Given the description of an element on the screen output the (x, y) to click on. 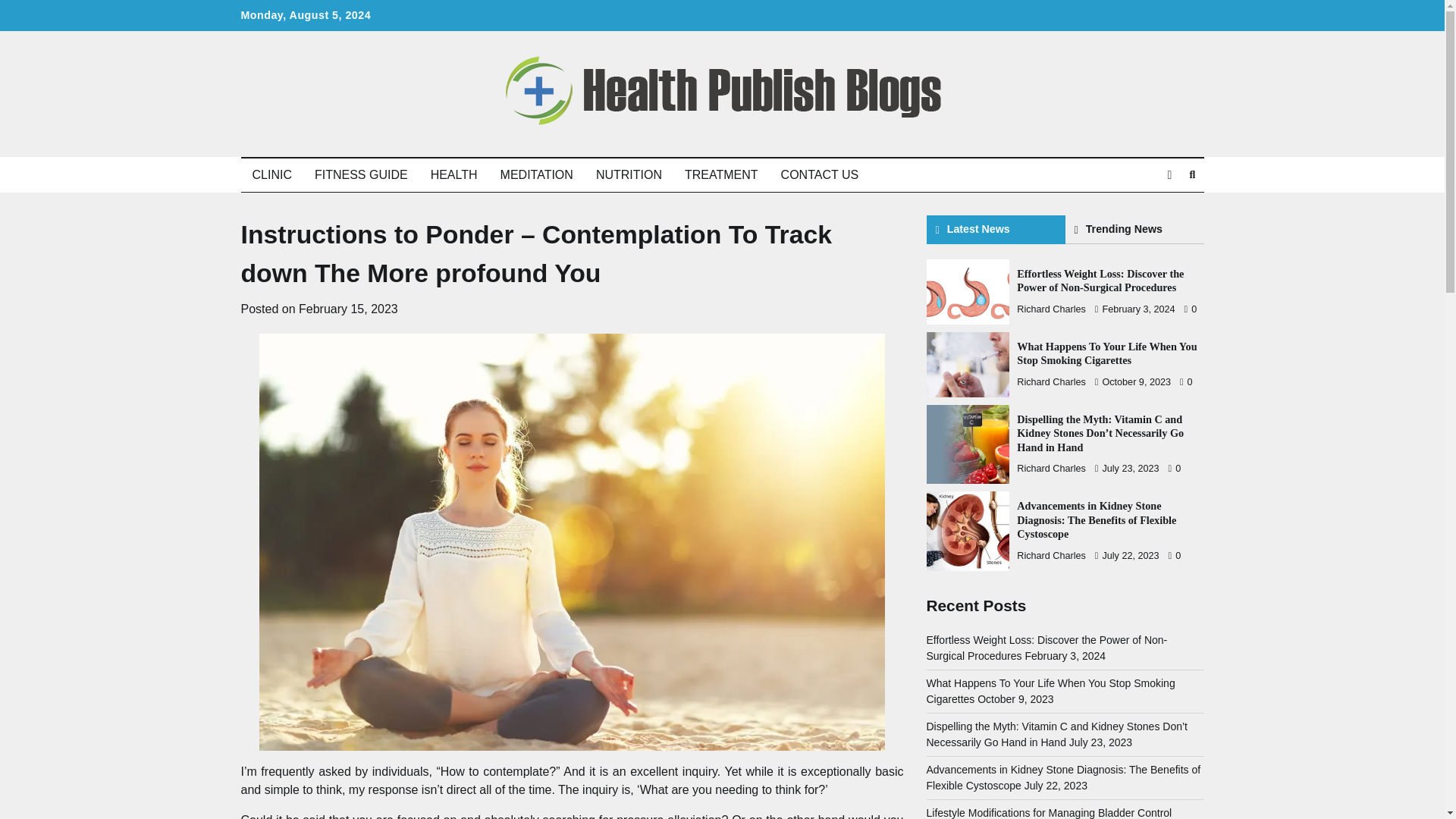
February 15, 2023 (347, 308)
CONTACT US (820, 174)
HEALTH (454, 174)
Trending News (1134, 229)
Latest News (995, 229)
FITNESS GUIDE (360, 174)
CLINIC (271, 174)
What Happens To Your Life When You Stop Smoking Cigarettes (1106, 353)
Search (1164, 210)
NUTRITION (628, 174)
TREATMENT (721, 174)
MEDITATION (537, 174)
Richard Charles (1051, 308)
Richard Charles (1051, 381)
